Given the description of an element on the screen output the (x, y) to click on. 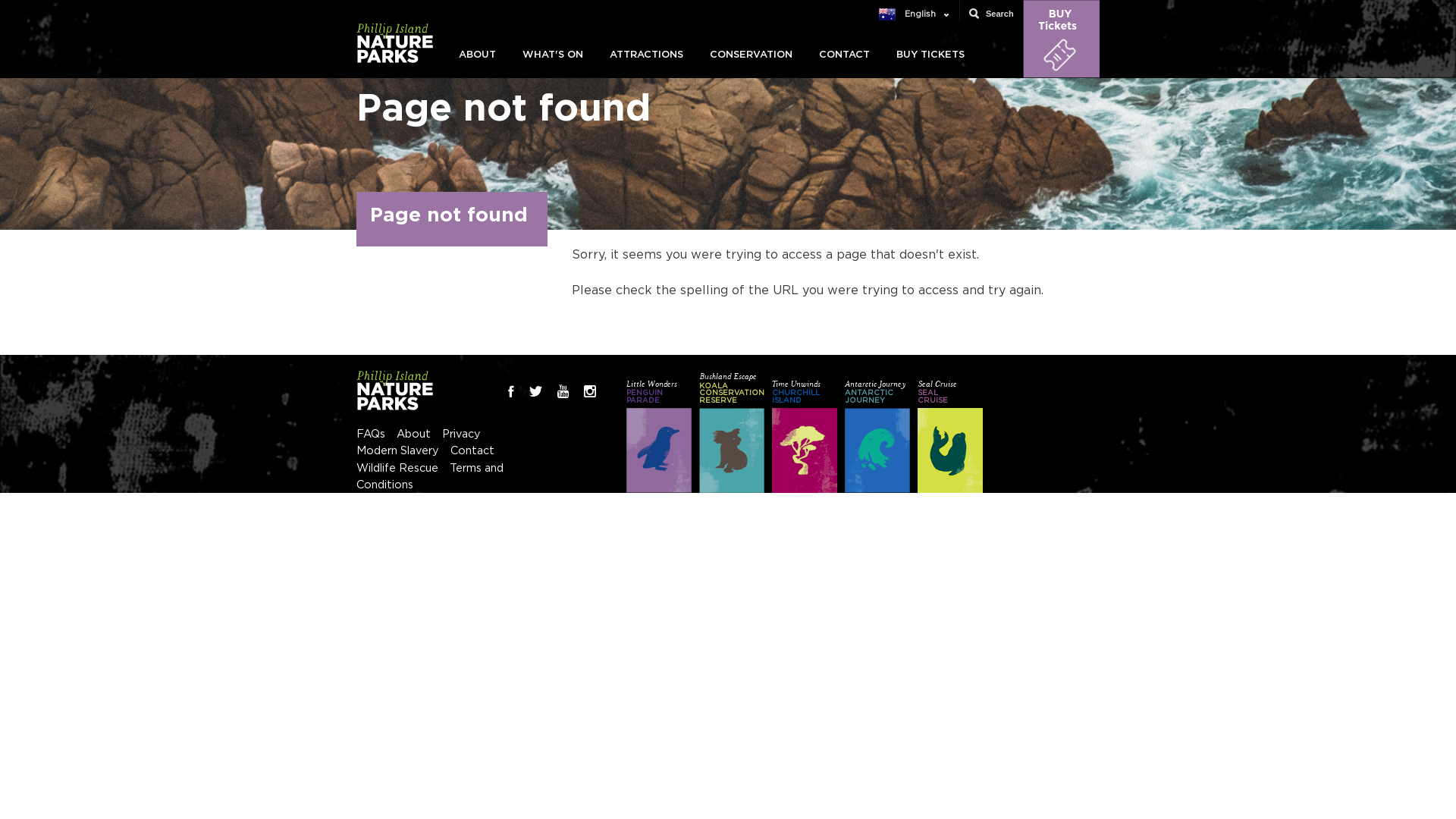
BUY TICKETS Element type: text (930, 54)
WHAT'S ON Element type: text (552, 54)
Privacy Element type: text (461, 433)
Seal Cruise
SEAL
CRUISE Element type: text (949, 431)
About Element type: text (413, 433)
FAQs Element type: text (370, 433)
Wildlife Rescue Element type: text (397, 467)
English Element type: text (911, 13)
CONSERVATION Element type: text (750, 54)
ABOUT Element type: text (476, 54)
Time Unwinds
CHURCHILL
ISLAND Element type: text (804, 431)
Bushland Escape
KOALA
CONSERVATION
RESERVE Element type: text (731, 431)
Little Wonders
PENGUIN
PARADE Element type: text (658, 431)
CONTACT Element type: text (844, 54)
Modern Slavery Element type: text (397, 450)
Antarctic Journey
ANTARCTIC
JOURNEY Element type: text (877, 431)
ATTRACTIONS Element type: text (646, 54)
Terms and Conditions Element type: text (429, 476)
Contact Element type: text (472, 450)
